Given the description of an element on the screen output the (x, y) to click on. 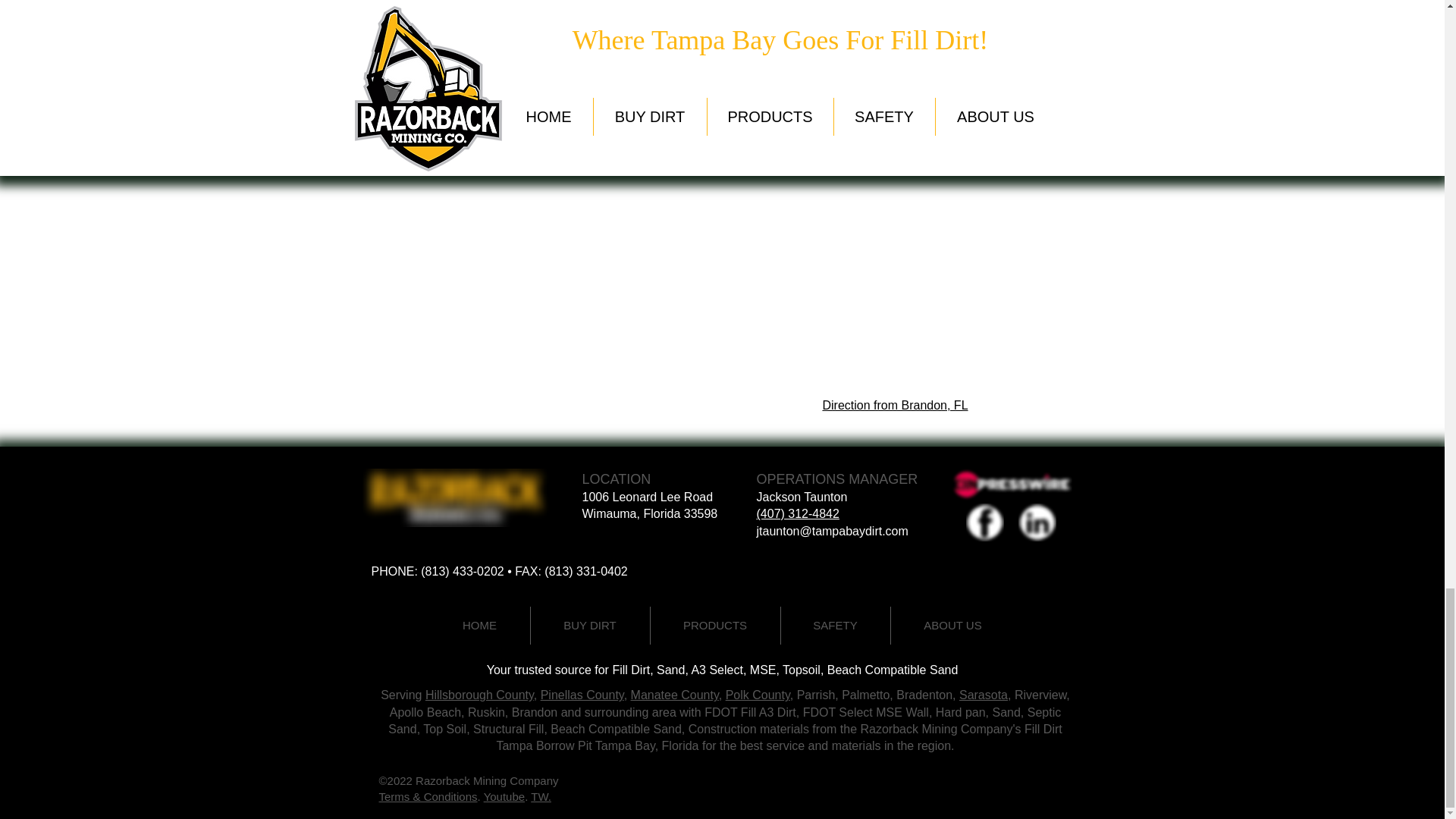
Youtube. (507, 796)
Razorback Mining Logo  (1010, 484)
ABOUT US (951, 625)
Razorback Mining Logo  (456, 497)
PRODUCTS (715, 625)
Manatee County (674, 694)
HOME (479, 625)
Polk County (757, 694)
Hillsborough County (479, 694)
Razorback Mining Logo  (1036, 522)
Sarasota (983, 694)
Embedded Content (555, 270)
Razorback Mining Logo  (985, 522)
Pinellas County (582, 694)
BUY DIRT (590, 625)
